Given the description of an element on the screen output the (x, y) to click on. 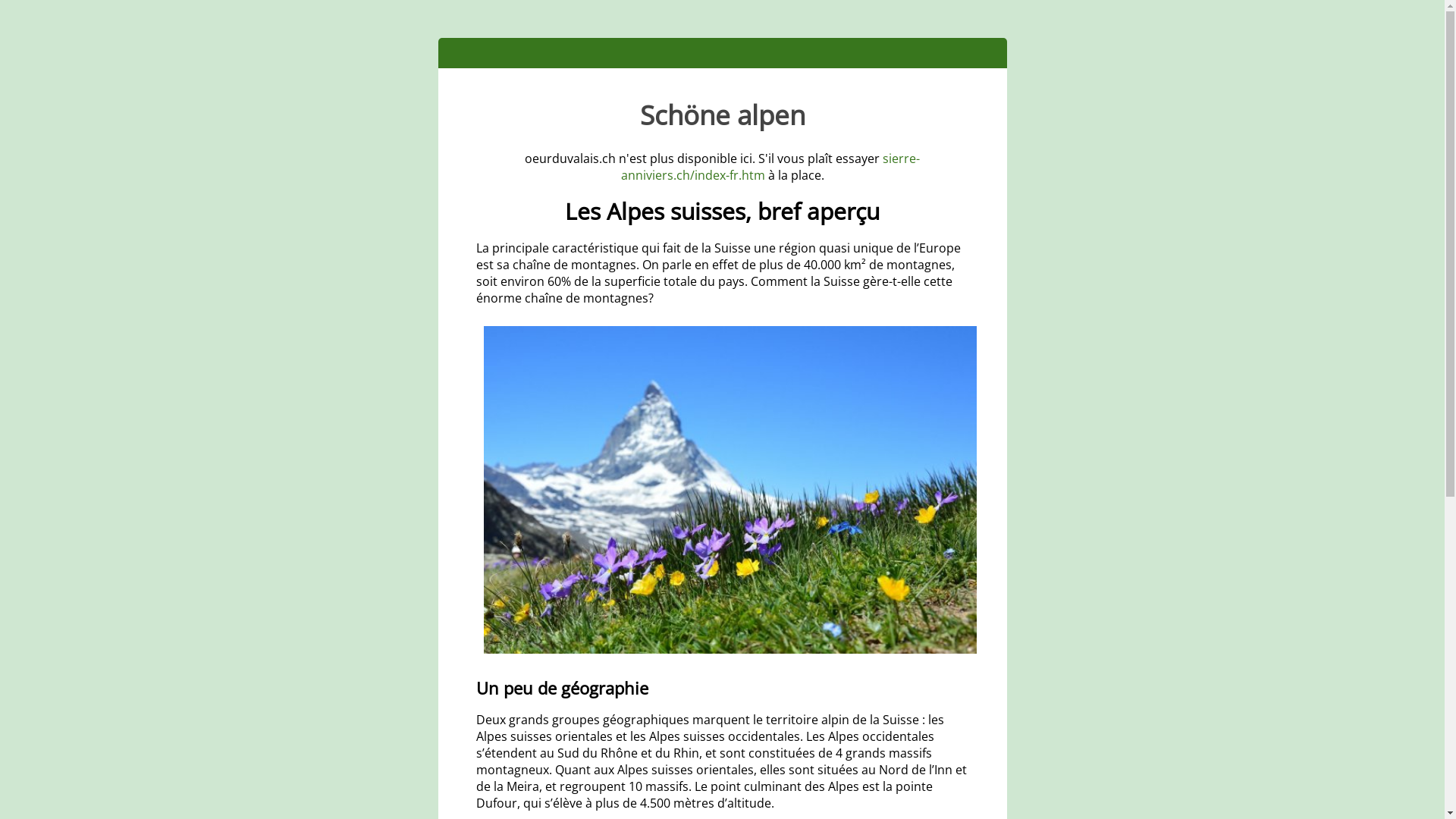
sierre-anniviers.ch/index-fr.htm Element type: text (769, 166)
